Given the description of an element on the screen output the (x, y) to click on. 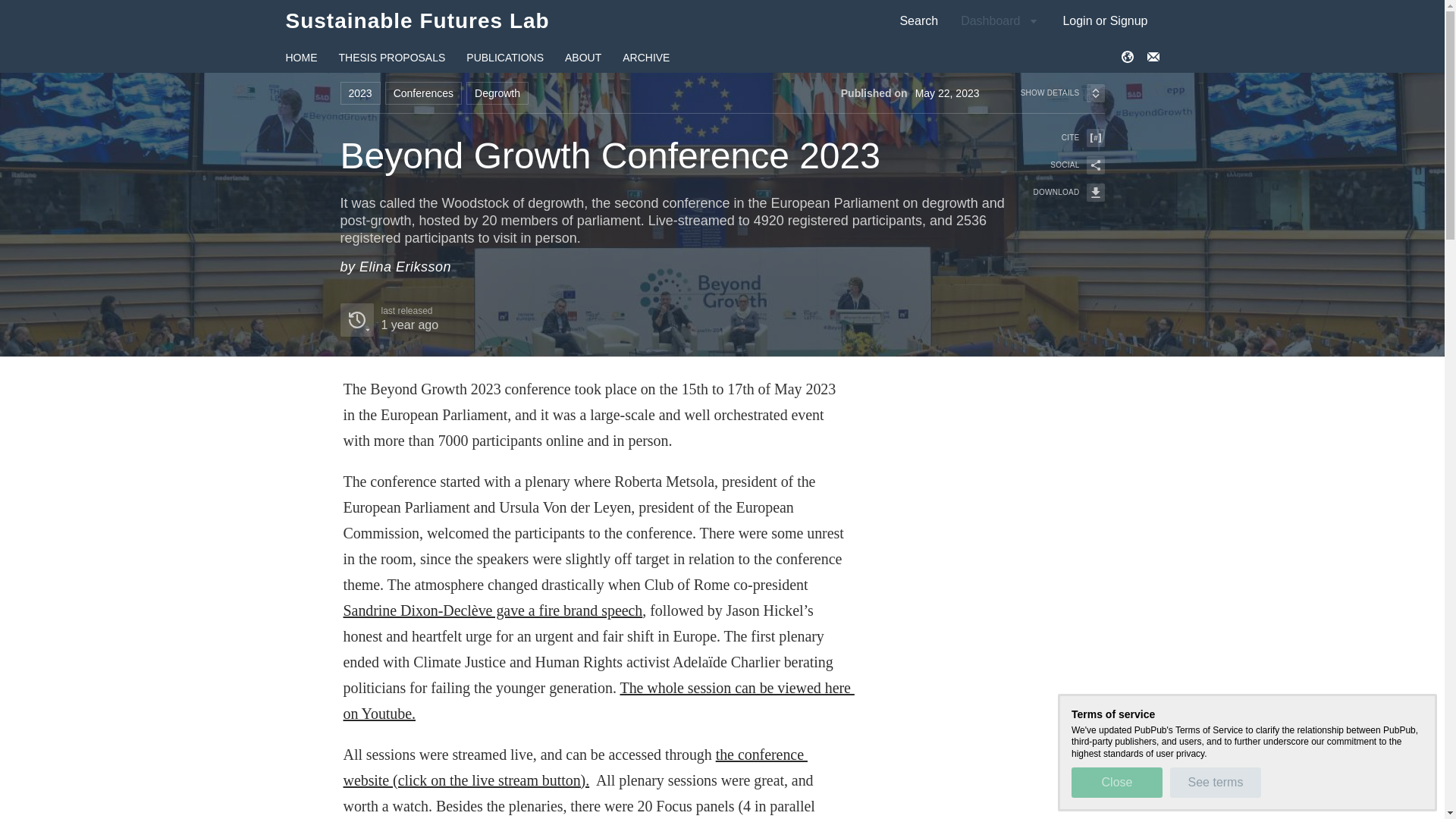
CITE (1058, 137)
Elina Eriksson (405, 266)
THESIS PROPOSALS (391, 57)
SHOW DETAILS (1062, 93)
Search (918, 20)
Login or Signup (1104, 20)
Dashboard (1000, 20)
ARCHIVE (646, 57)
PUBLICATIONS (504, 57)
ABOUT (582, 57)
